Given the description of an element on the screen output the (x, y) to click on. 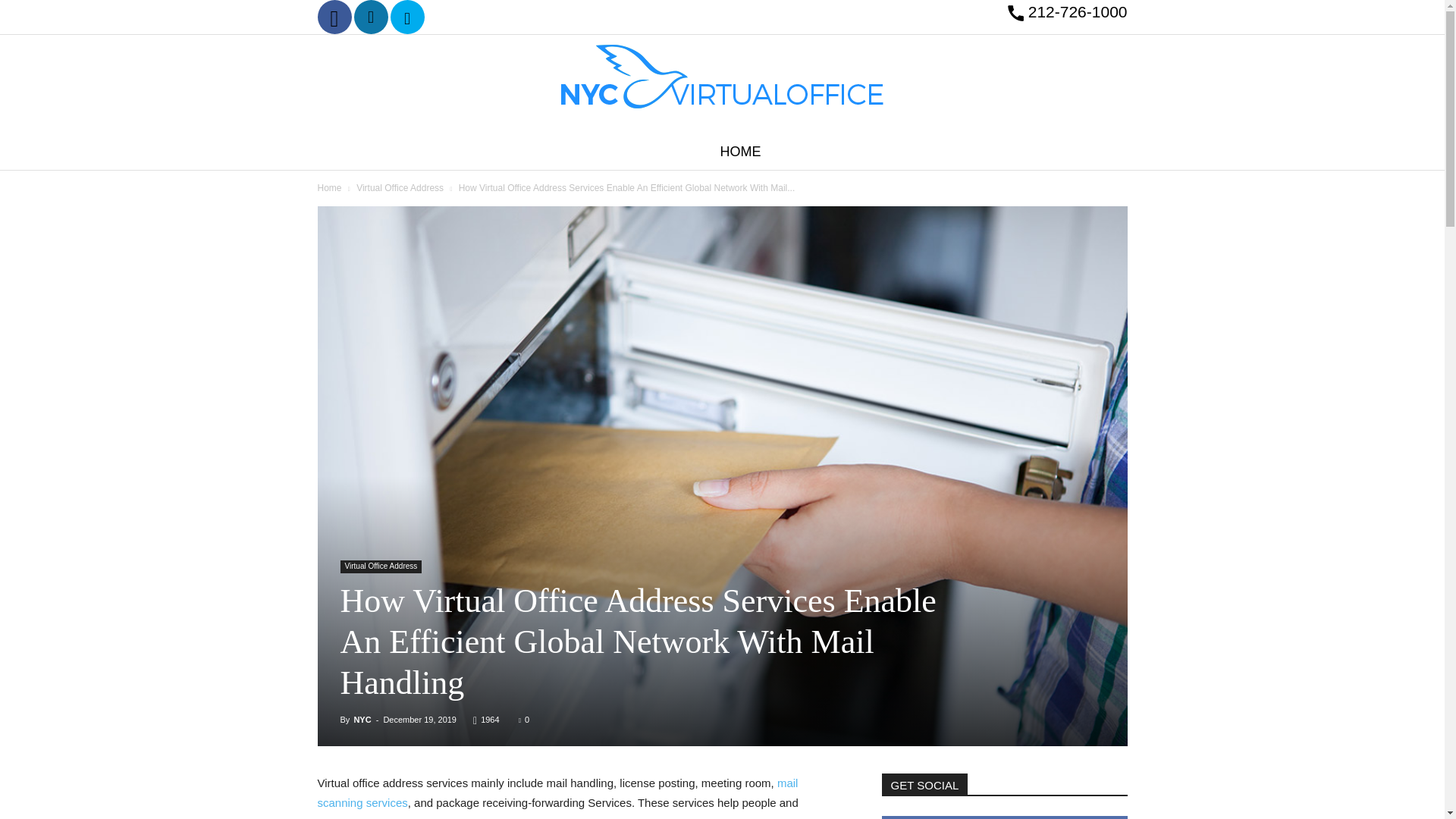
Linkedin (370, 17)
View all posts in Virtual Office Address (400, 187)
0 (523, 718)
Home (328, 187)
Facebook (333, 17)
NYC (362, 718)
HOME (740, 151)
mail scanning services (557, 792)
Twitter (407, 17)
Virtual Office Address (400, 187)
212-726-1000 (1074, 11)
Virtual Office Address (380, 566)
